Given the description of an element on the screen output the (x, y) to click on. 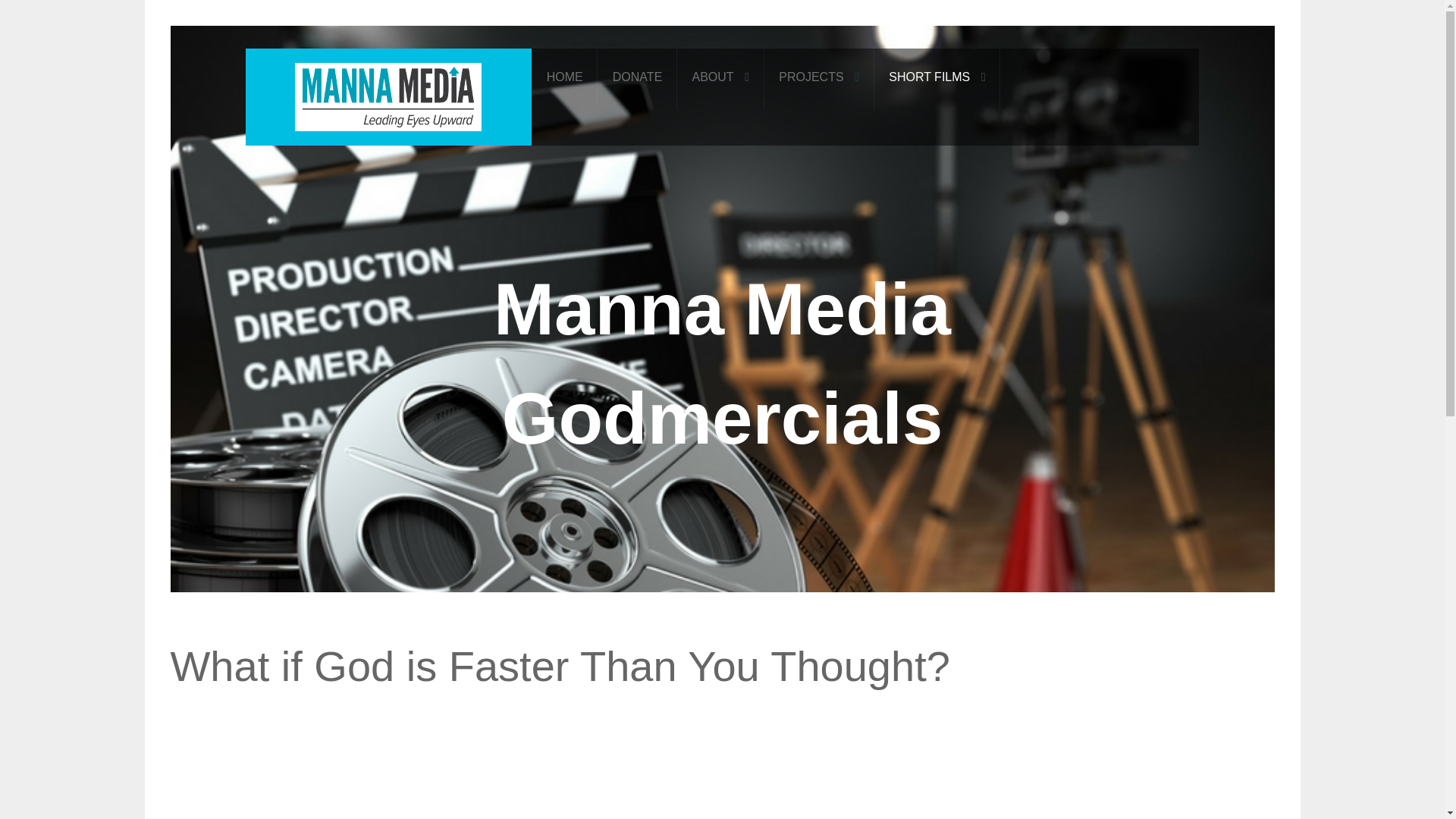
DONATE (636, 77)
PROJECTS (819, 77)
HOME (563, 77)
